Given the description of an element on the screen output the (x, y) to click on. 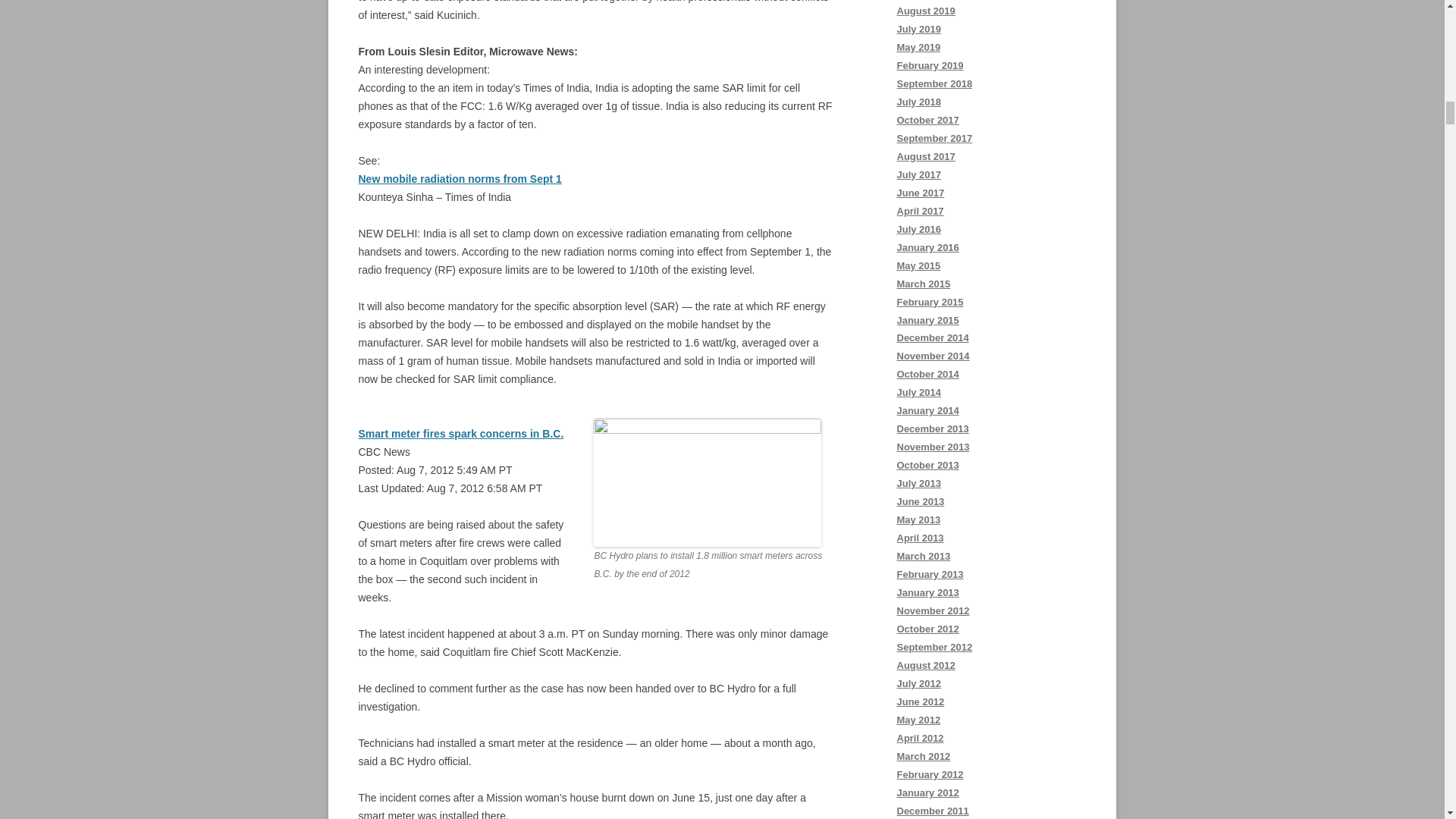
Smart meter fires spark concerns in B.C. (460, 433)
li-bc-111130-smart-meter-4col (707, 482)
New mobile radiation norms from Sept 1 (459, 178)
